Given the description of an element on the screen output the (x, y) to click on. 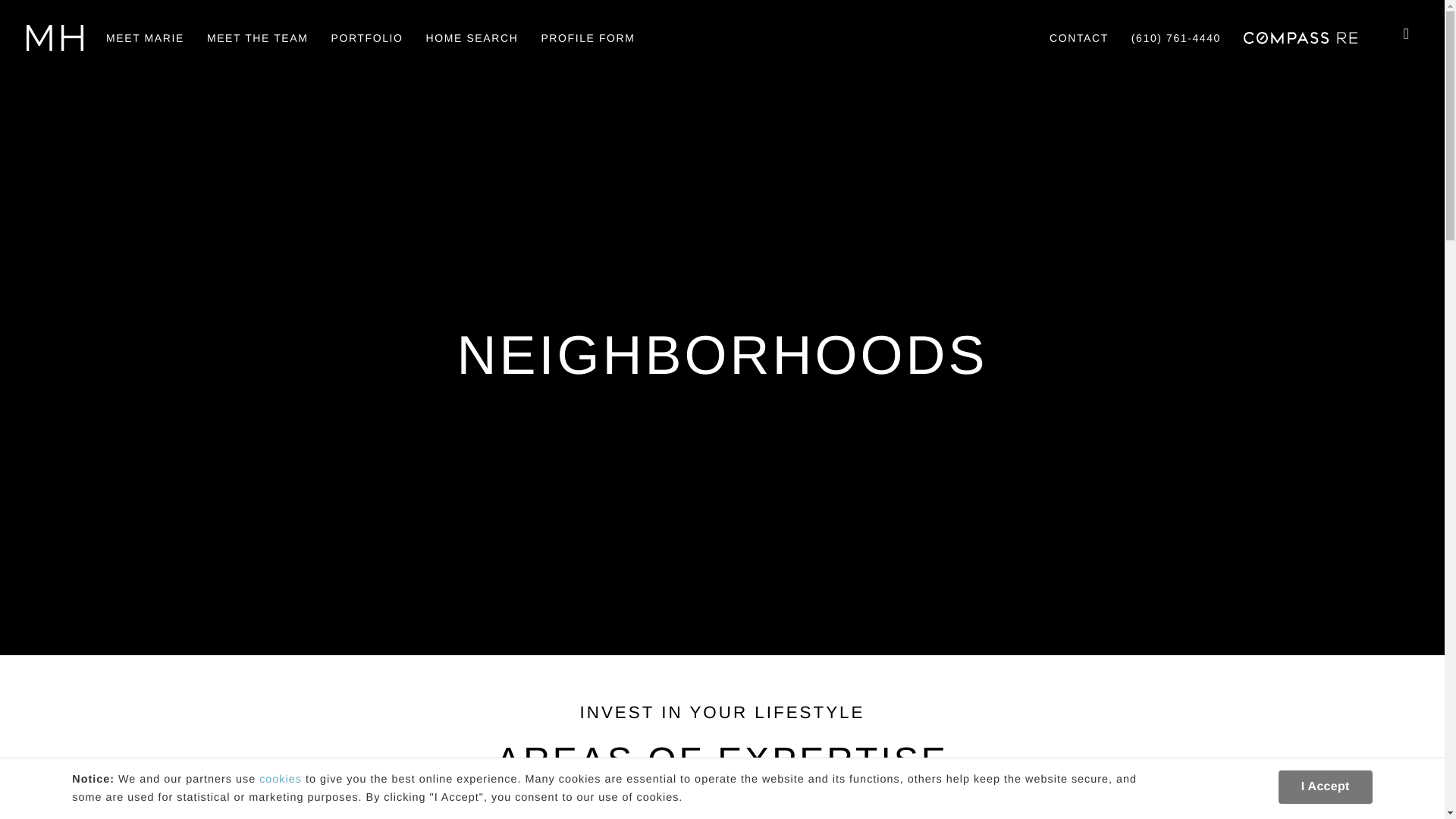
PORTFOLIO (365, 38)
MEET THE TEAM (257, 38)
CONTACT (1078, 38)
MEET MARIE (144, 38)
HOME SEARCH (472, 37)
PROFILE FORM (587, 37)
